Given the description of an element on the screen output the (x, y) to click on. 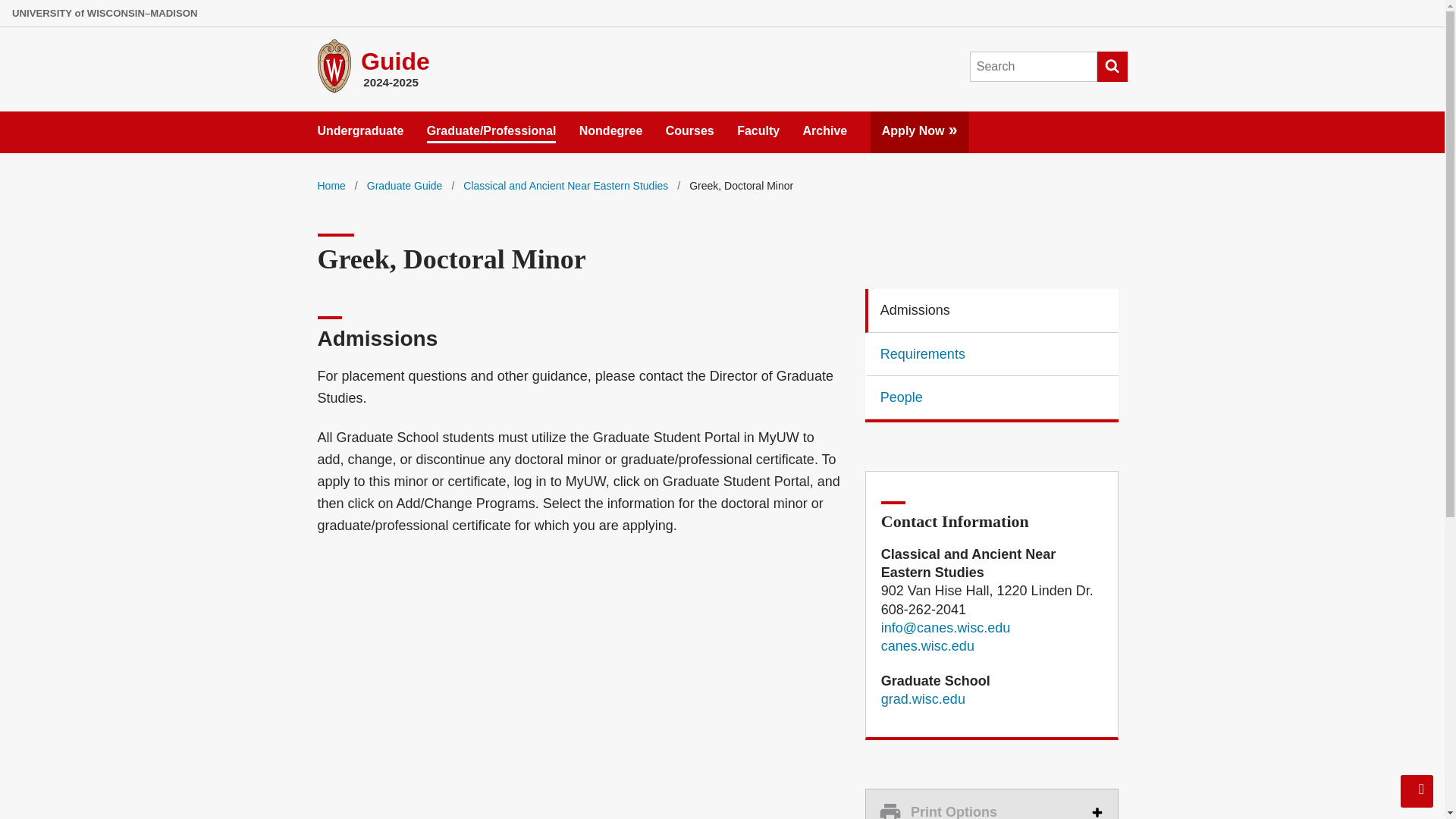
People (991, 397)
Courses (689, 127)
Classical and Ancient Near Eastern Studies (565, 185)
Archive (825, 127)
Requirements (991, 353)
Home (331, 185)
Submit search (1111, 66)
Admissions (991, 310)
Apply Now More (920, 127)
Faculty (757, 127)
Nondegree (991, 803)
grad.wisc.edu (611, 127)
Guide (922, 698)
Undergraduate (395, 61)
